Given the description of an element on the screen output the (x, y) to click on. 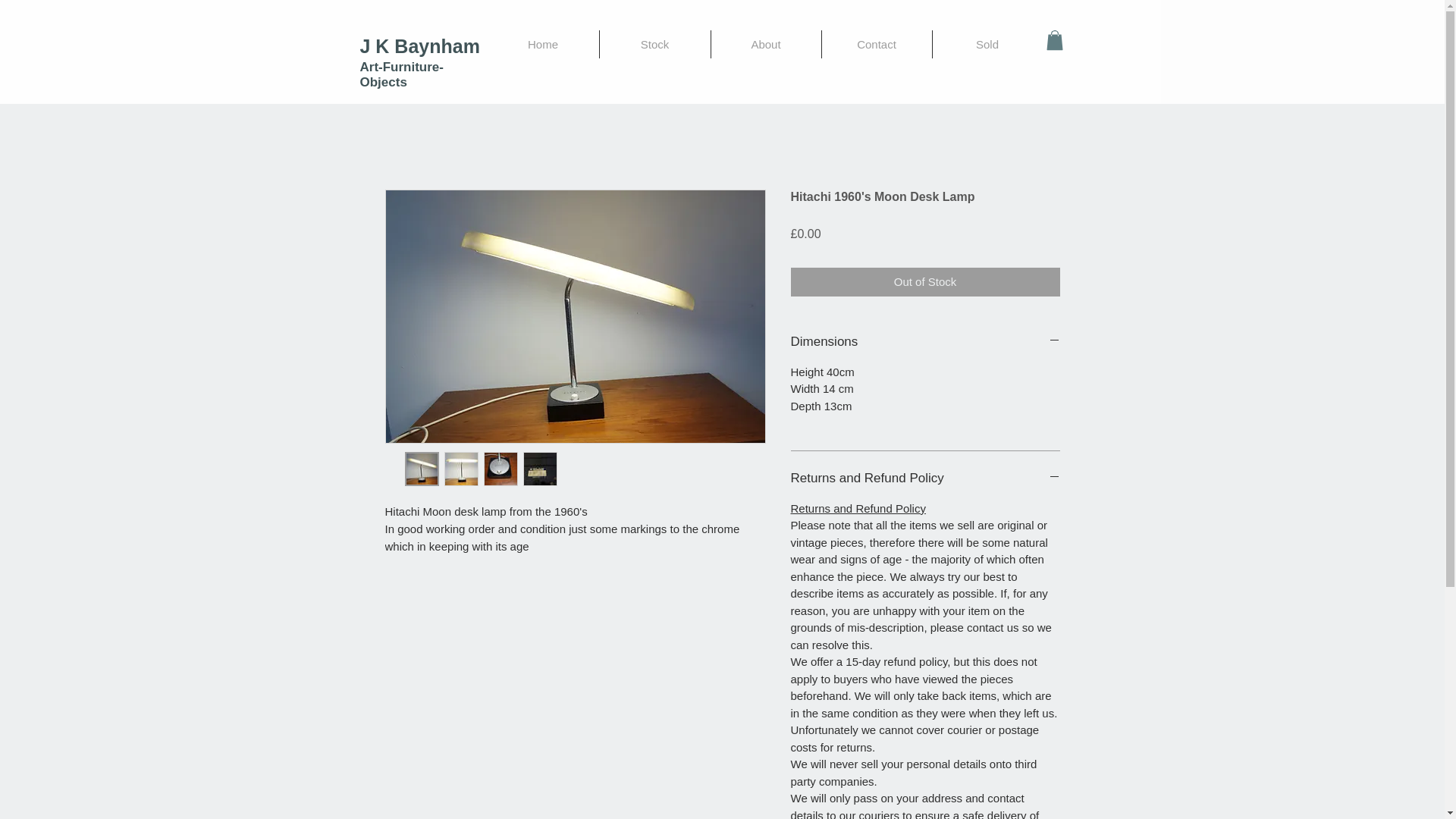
Dimensions (924, 341)
Contact (876, 44)
Sold (987, 44)
Returns and Refund Policy (924, 478)
Home (542, 44)
Stock (654, 44)
About (766, 44)
Out of Stock (924, 282)
